Given the description of an element on the screen output the (x, y) to click on. 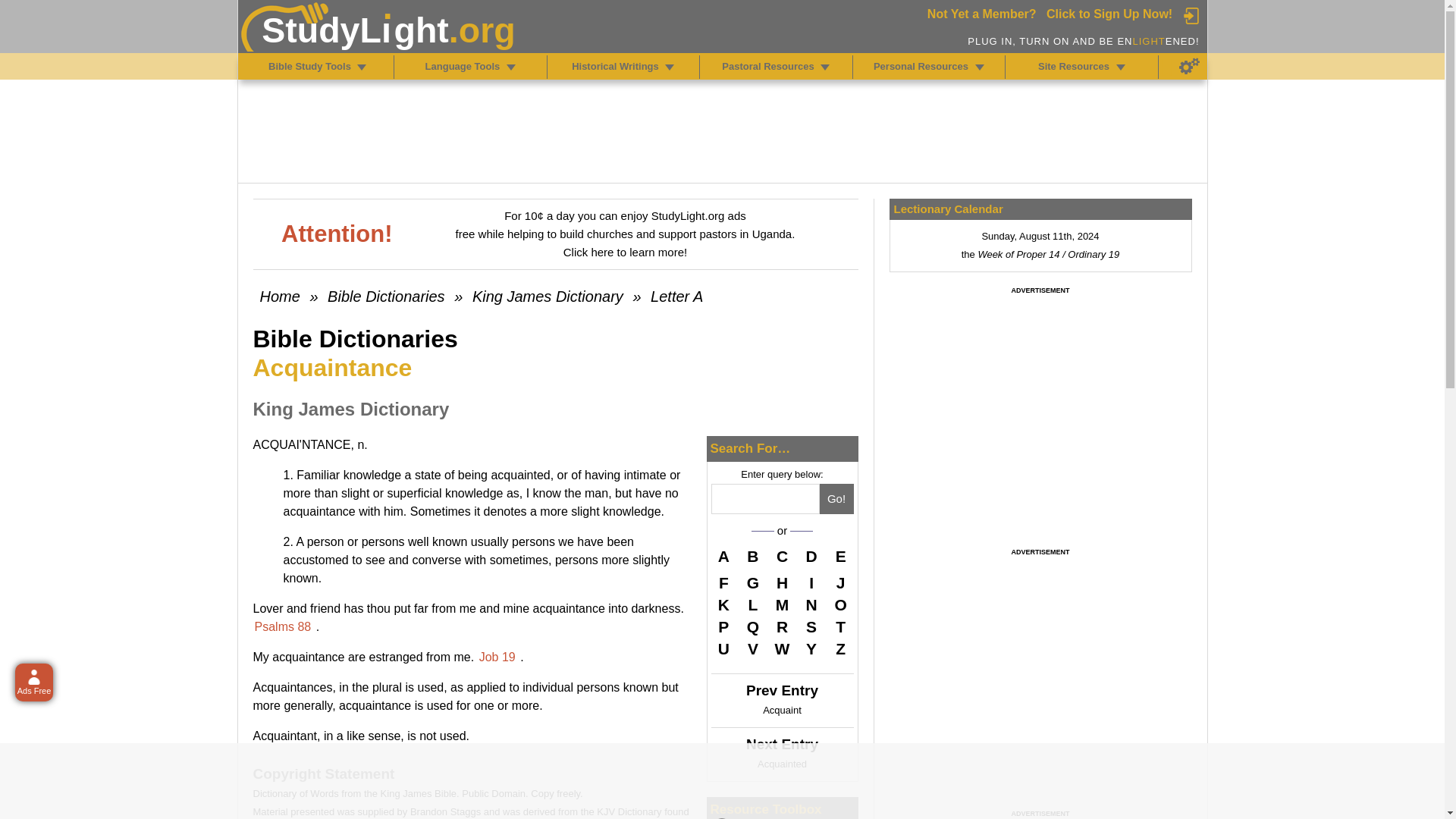
A (723, 558)
Home (279, 296)
Site Resources (1120, 67)
Click here to learn more! (625, 251)
M (782, 605)
Go! (835, 499)
D (810, 558)
C (782, 558)
Go! (835, 499)
Click to Sign Up Now! (1109, 13)
